Given the description of an element on the screen output the (x, y) to click on. 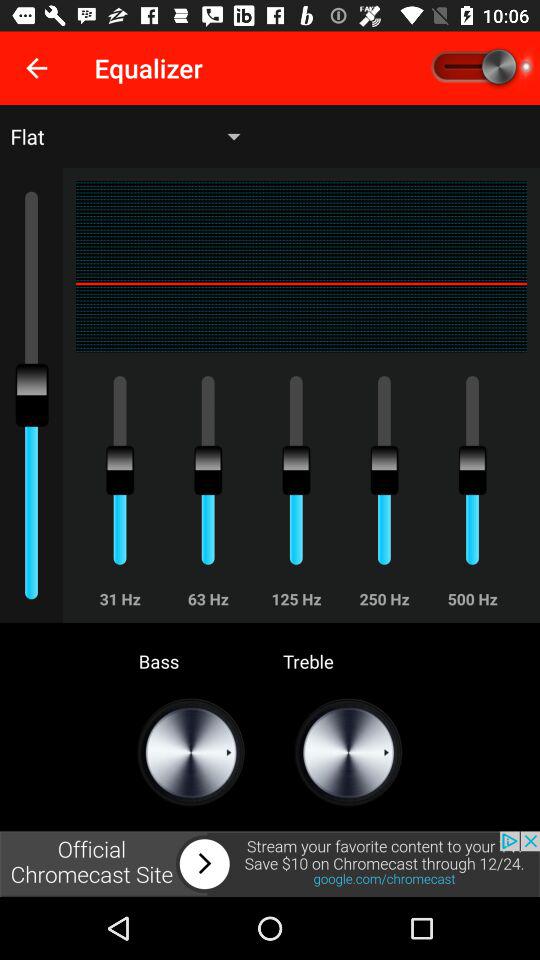
visit this website (270, 864)
